Given the description of an element on the screen output the (x, y) to click on. 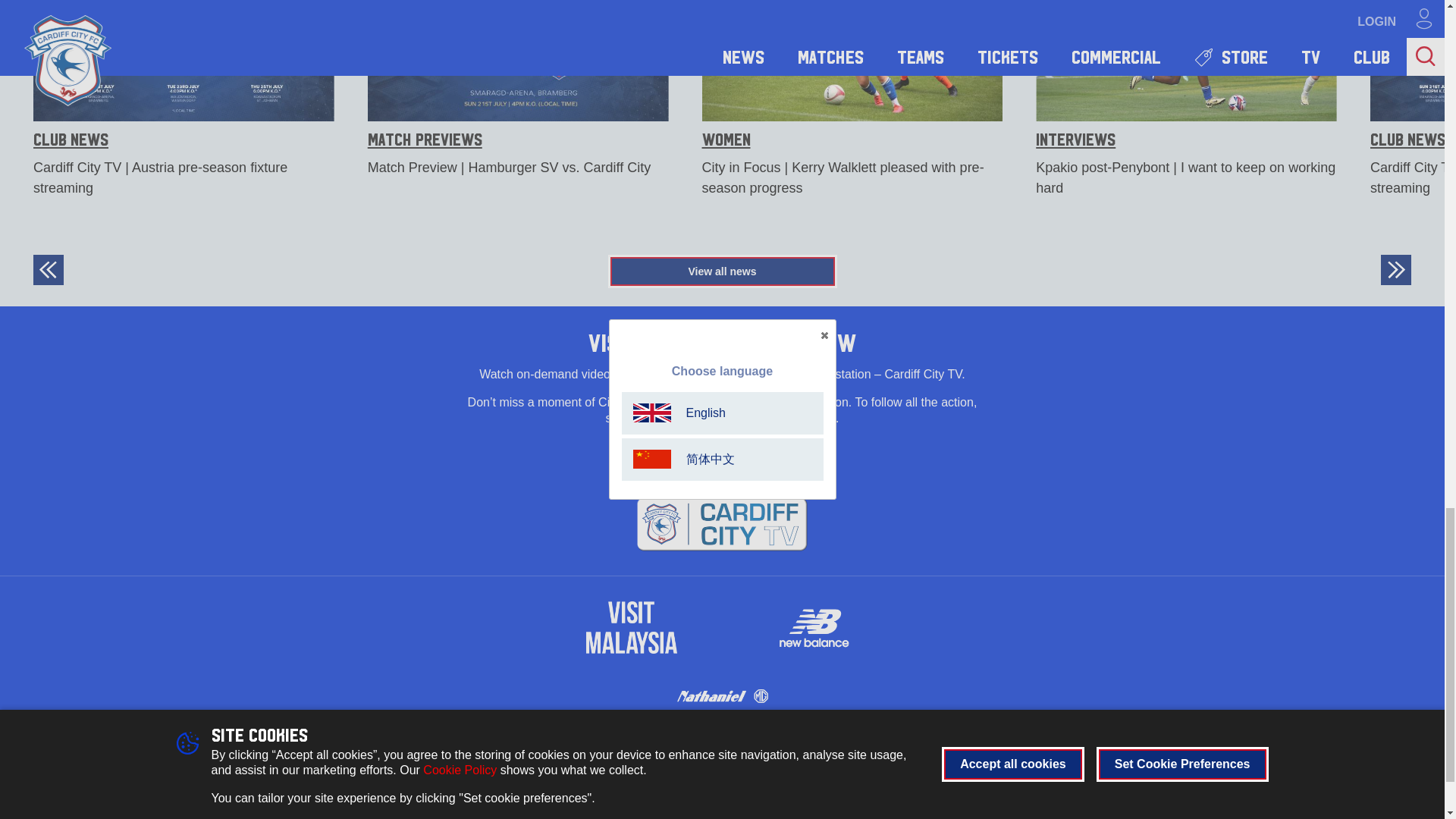
Nathaniel Cars (722, 695)
New Balance (813, 627)
Visit Malaysia (631, 627)
